Given the description of an element on the screen output the (x, y) to click on. 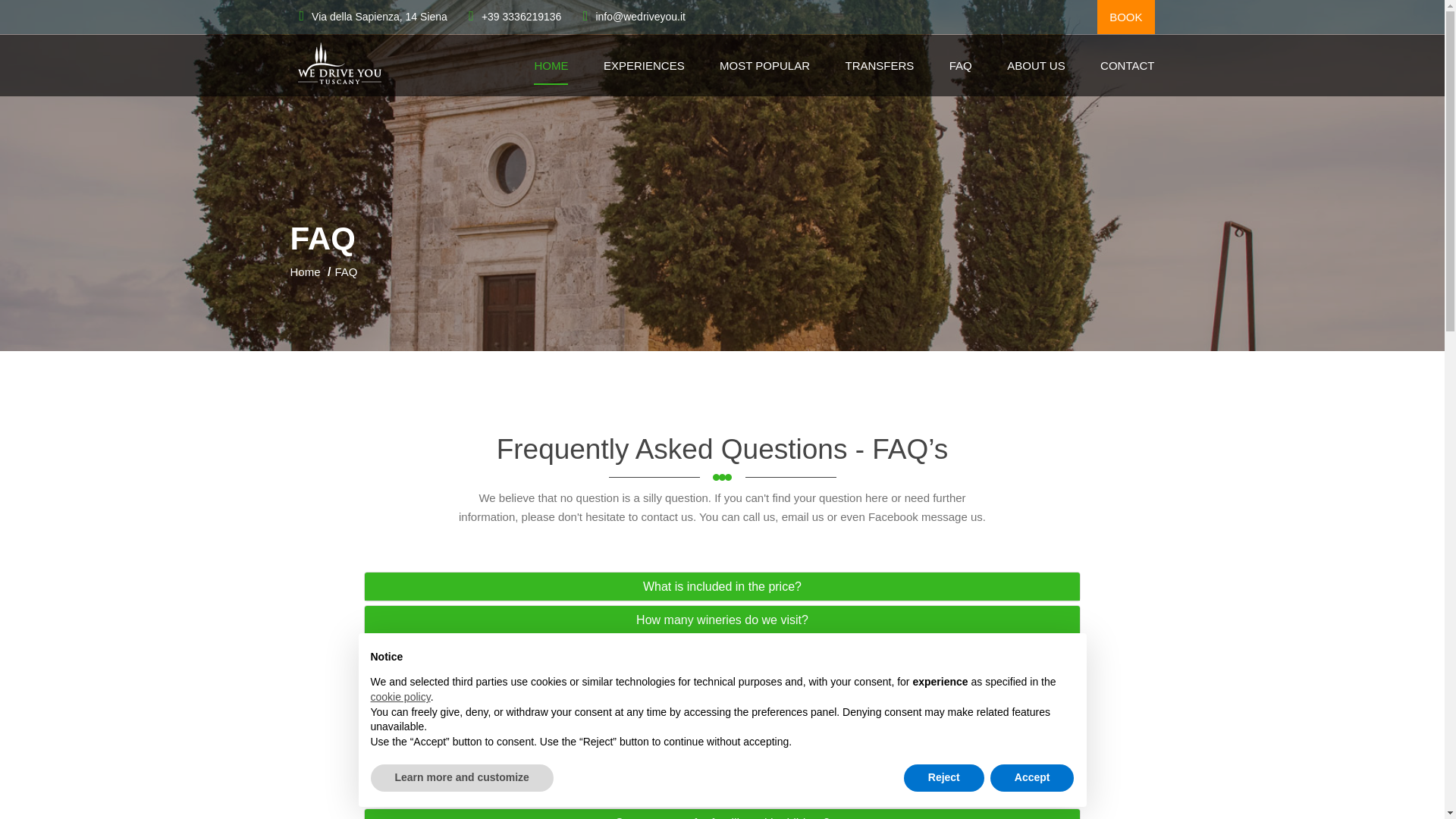
FAQ (960, 65)
EXPERIENCES (644, 65)
Home (304, 271)
CONTACT (1127, 65)
Is food and wine included? (721, 721)
MOST POPULAR (764, 65)
Are there any extra cost? (721, 687)
FAQ (345, 271)
What sort of wineries do we visit? (721, 653)
What group size can you cater for? (721, 755)
TRANSFERS (879, 65)
How many wineries do we visit? (721, 620)
HOME (550, 65)
Is there a minimum or maximum group size? (721, 789)
